Given the description of an element on the screen output the (x, y) to click on. 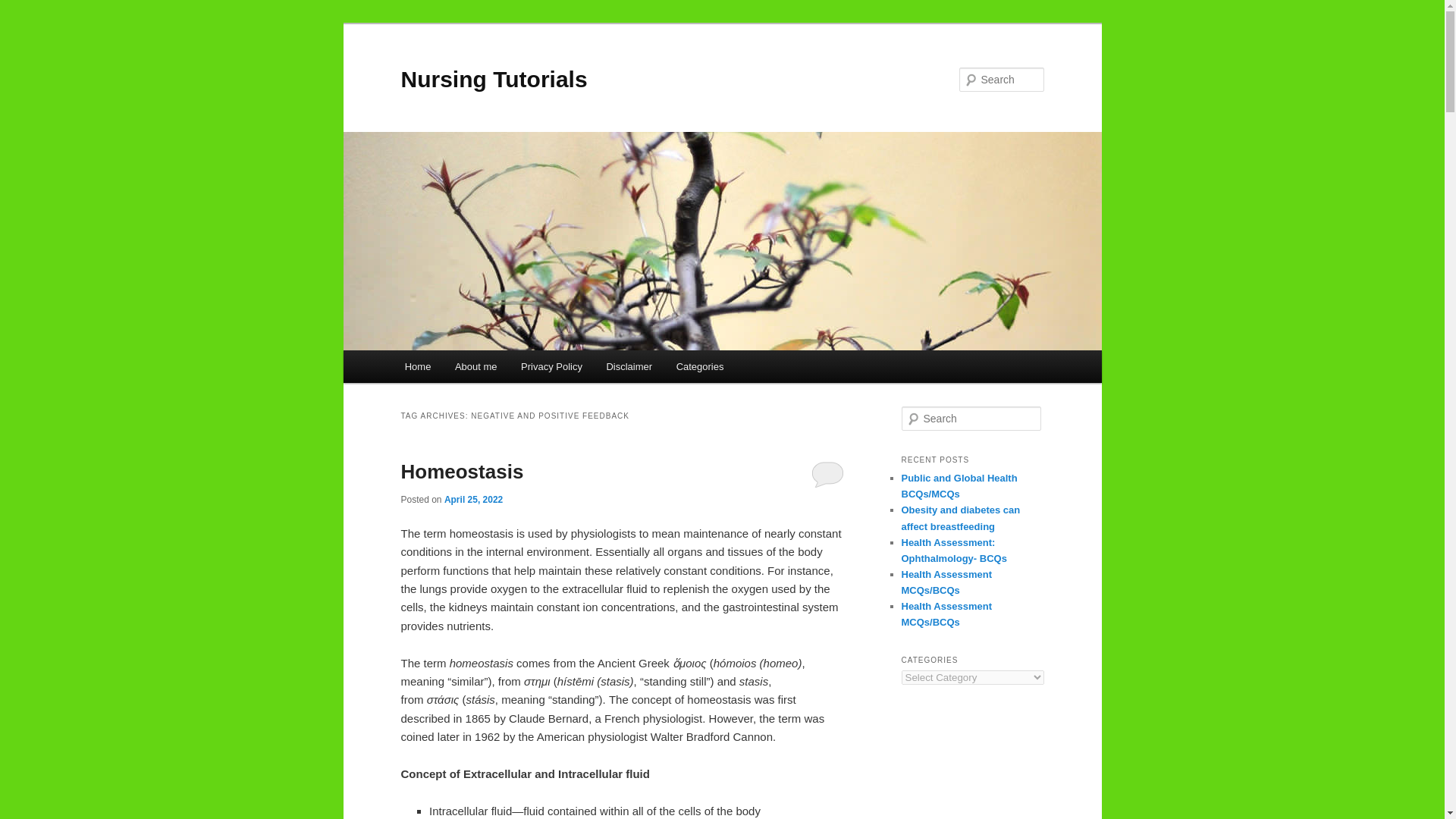
Categories (699, 366)
Home (417, 366)
Obesity and diabetes can affect breastfeeding (960, 517)
Search (24, 8)
Nursing Tutorials (493, 78)
Search (21, 11)
Privacy Policy (551, 366)
About me (475, 366)
Homeostasis (461, 471)
6:19 pm (473, 499)
Disclaimer (628, 366)
April 25, 2022 (473, 499)
Health Assessment: Ophthalmology- BCQs (953, 550)
